Given the description of an element on the screen output the (x, y) to click on. 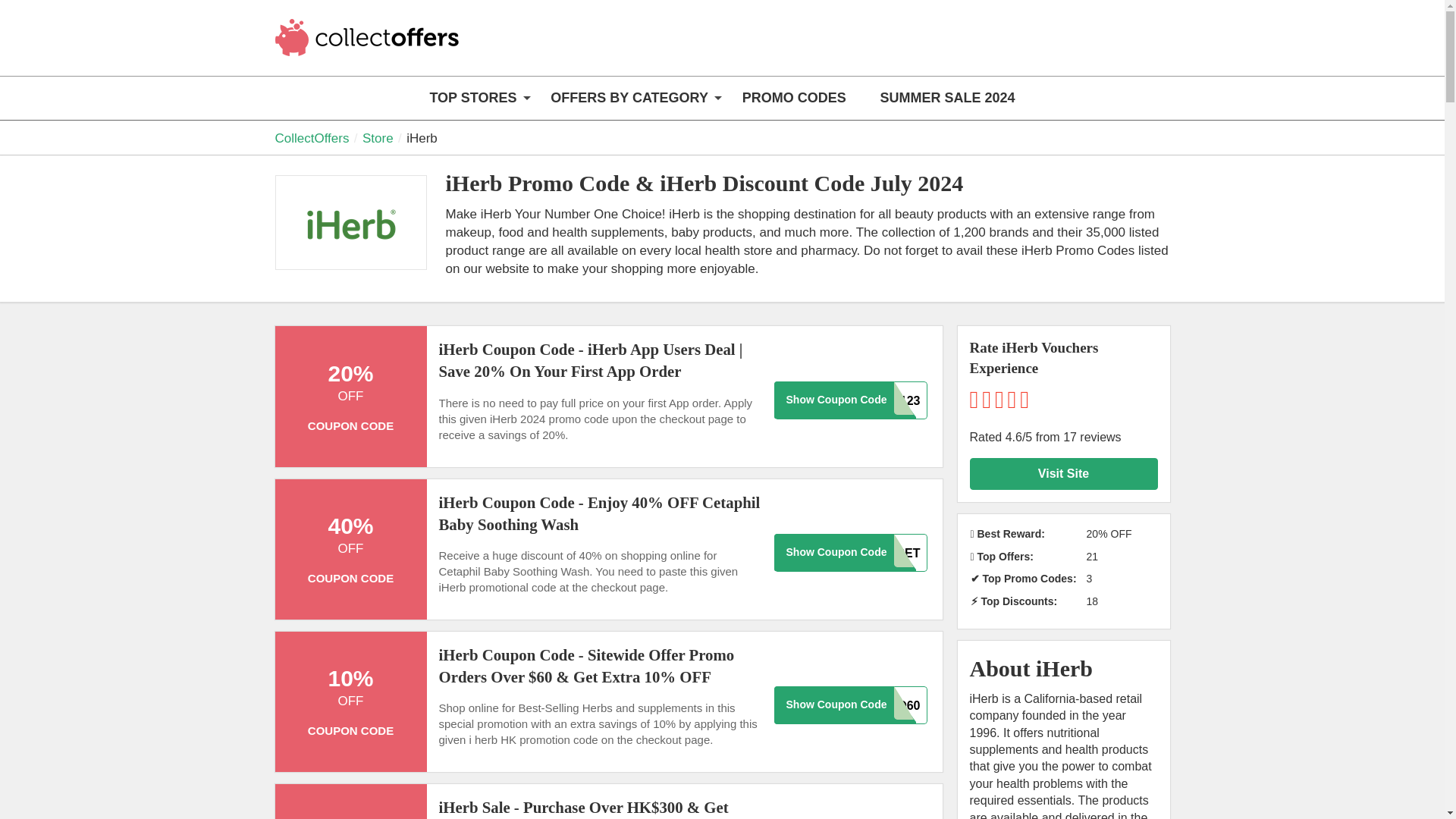
TOP STORES (472, 97)
CollectOffers (369, 47)
OFFERS BY CATEGORY (628, 97)
